Given the description of an element on the screen output the (x, y) to click on. 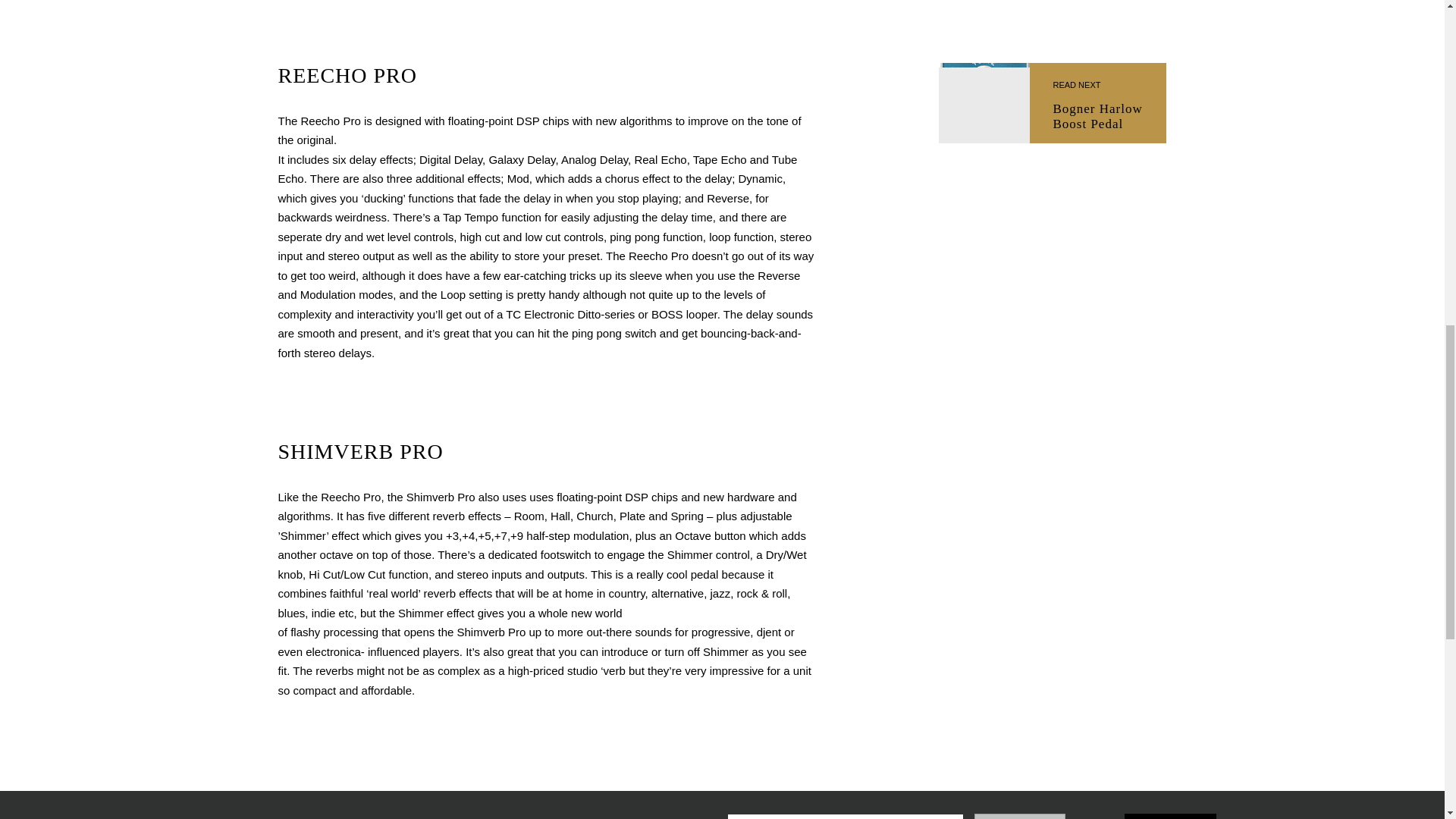
SIGN UP (1170, 816)
